Given the description of an element on the screen output the (x, y) to click on. 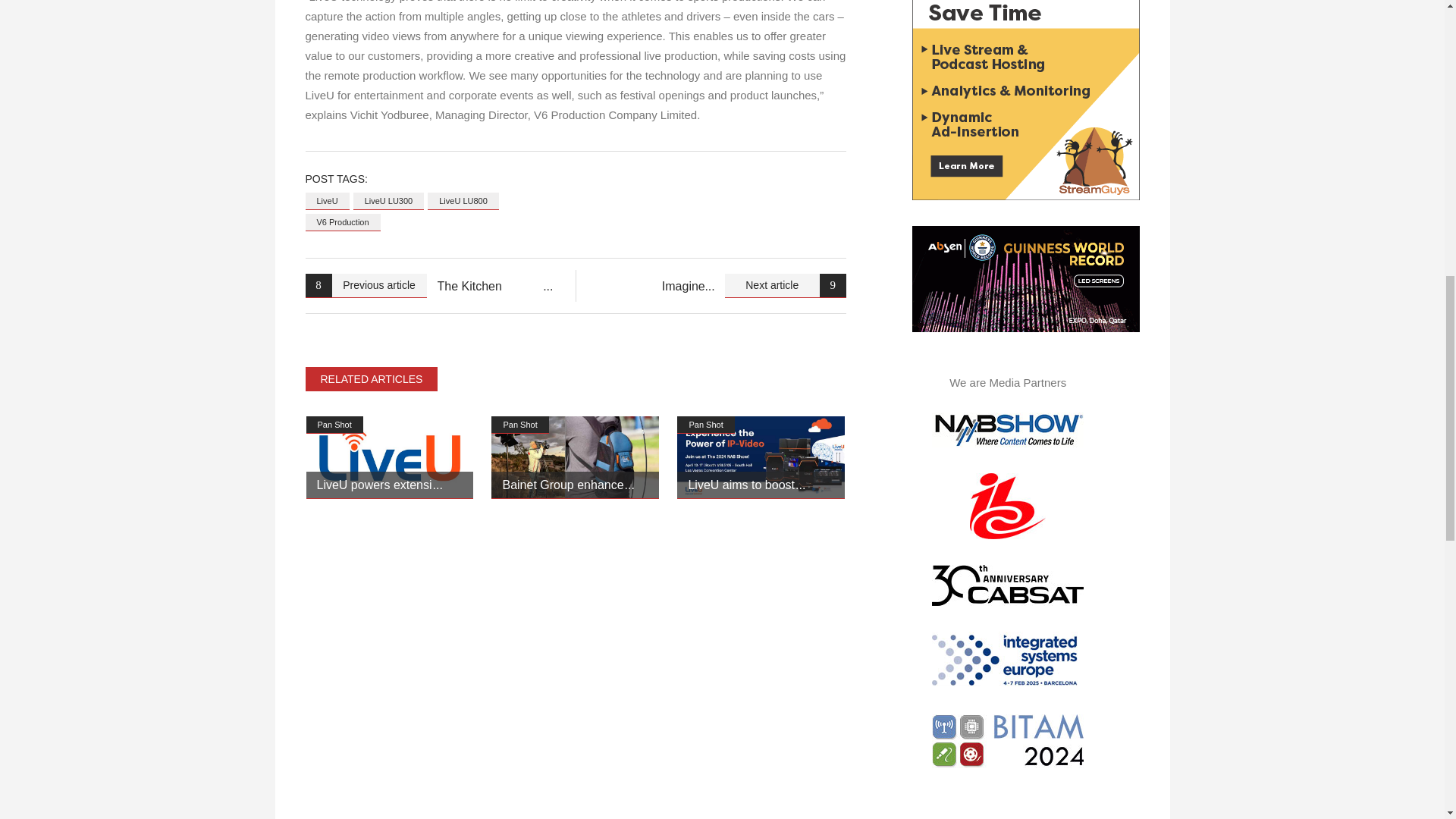
Pan Shot (333, 425)
LiveU LU300 (389, 200)
LiveU (326, 200)
V6 Production (342, 221)
Previous article (365, 285)
Bainet Group enhance (567, 484)
Pan Shot (520, 425)
Next article (785, 285)
LiveU aims to boost (746, 484)
LiveU LU800 (463, 200)
